Given the description of an element on the screen output the (x, y) to click on. 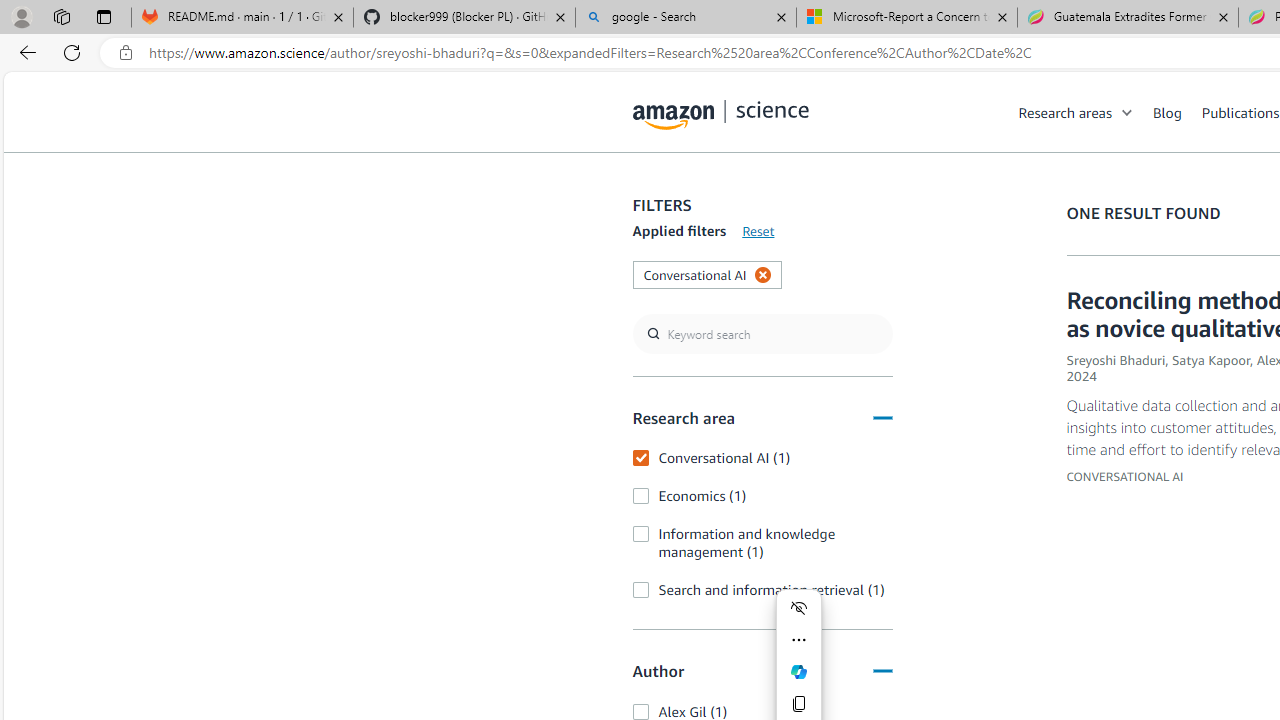
Class: icon-magnify (654, 192)
Search (653, 191)
Blog (1177, 111)
Blog (1167, 111)
home page (721, 110)
Workspaces (61, 16)
Research areas (1085, 111)
CONVERSATIONAL AI (1125, 476)
View site information (125, 53)
Reset (758, 231)
